Given the description of an element on the screen output the (x, y) to click on. 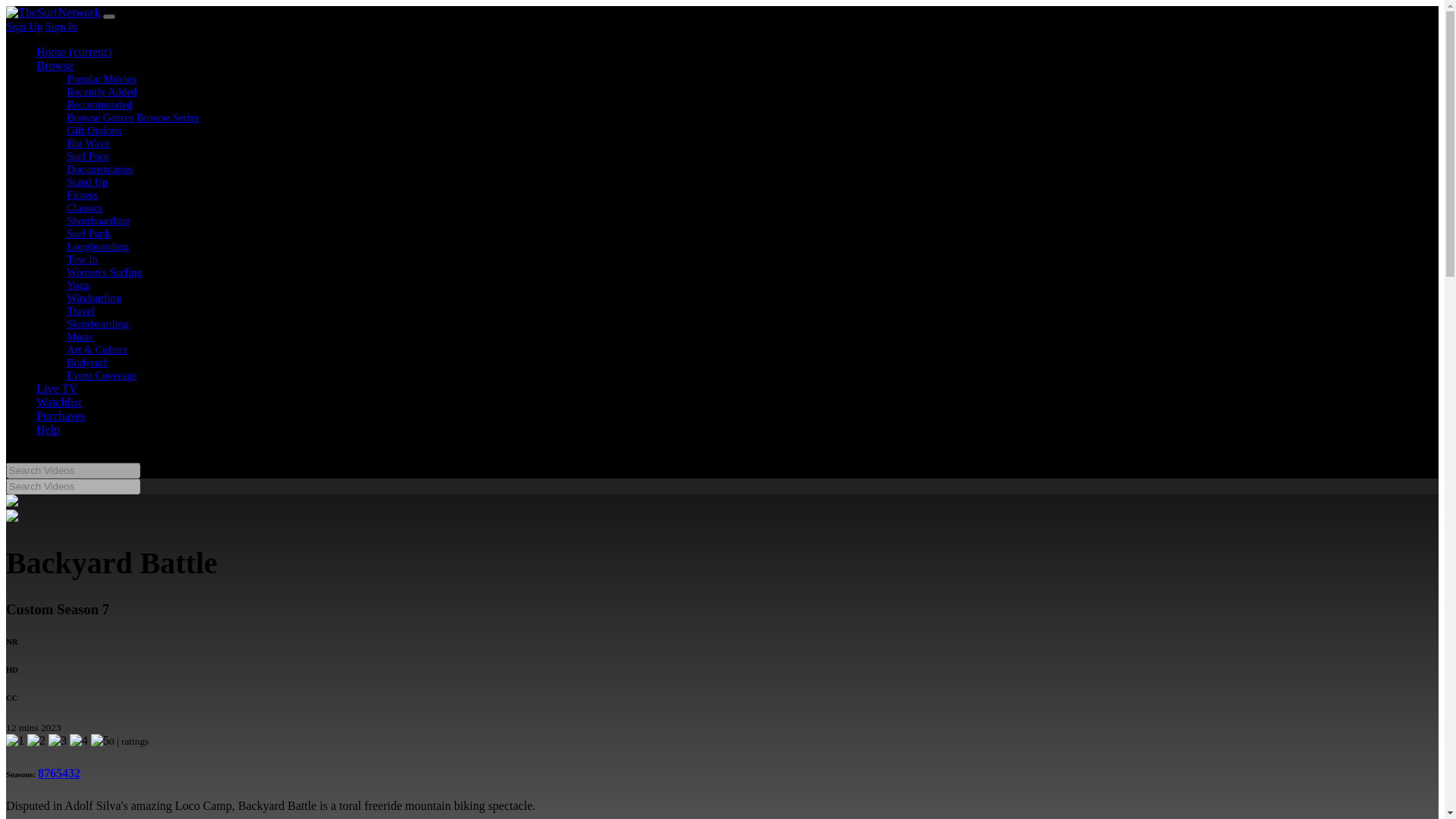
Yoga (77, 285)
Skimboarding (97, 323)
Browse Series (167, 117)
Travel (80, 310)
Popular Movies (101, 78)
Live TV (56, 388)
hated it (14, 740)
Gift Options (93, 130)
Fitness (81, 194)
Watchlist (58, 401)
Music (80, 336)
Bodysurf (86, 362)
Help (47, 429)
Event Coverage (101, 375)
really like it (78, 740)
